Given the description of an element on the screen output the (x, y) to click on. 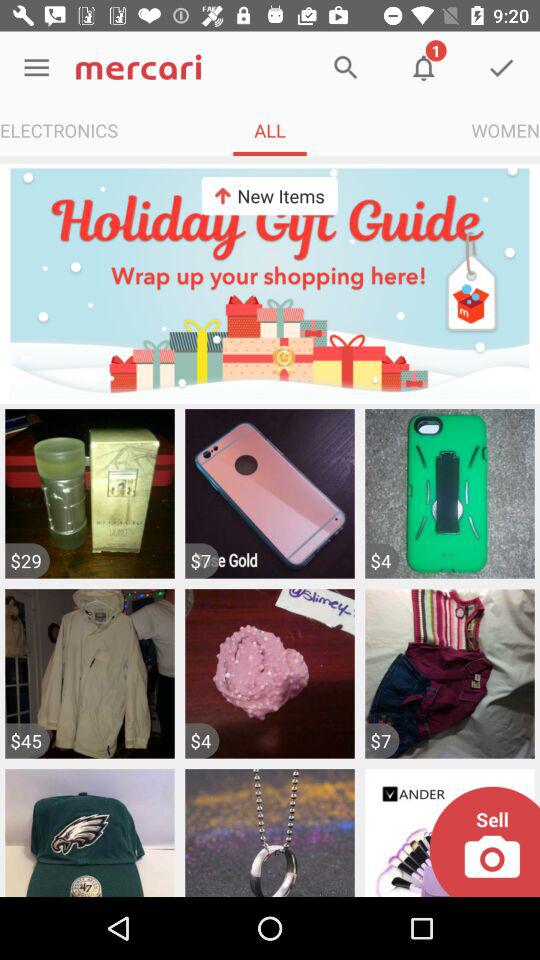
scroll until the $29 icon (27, 560)
